Given the description of an element on the screen output the (x, y) to click on. 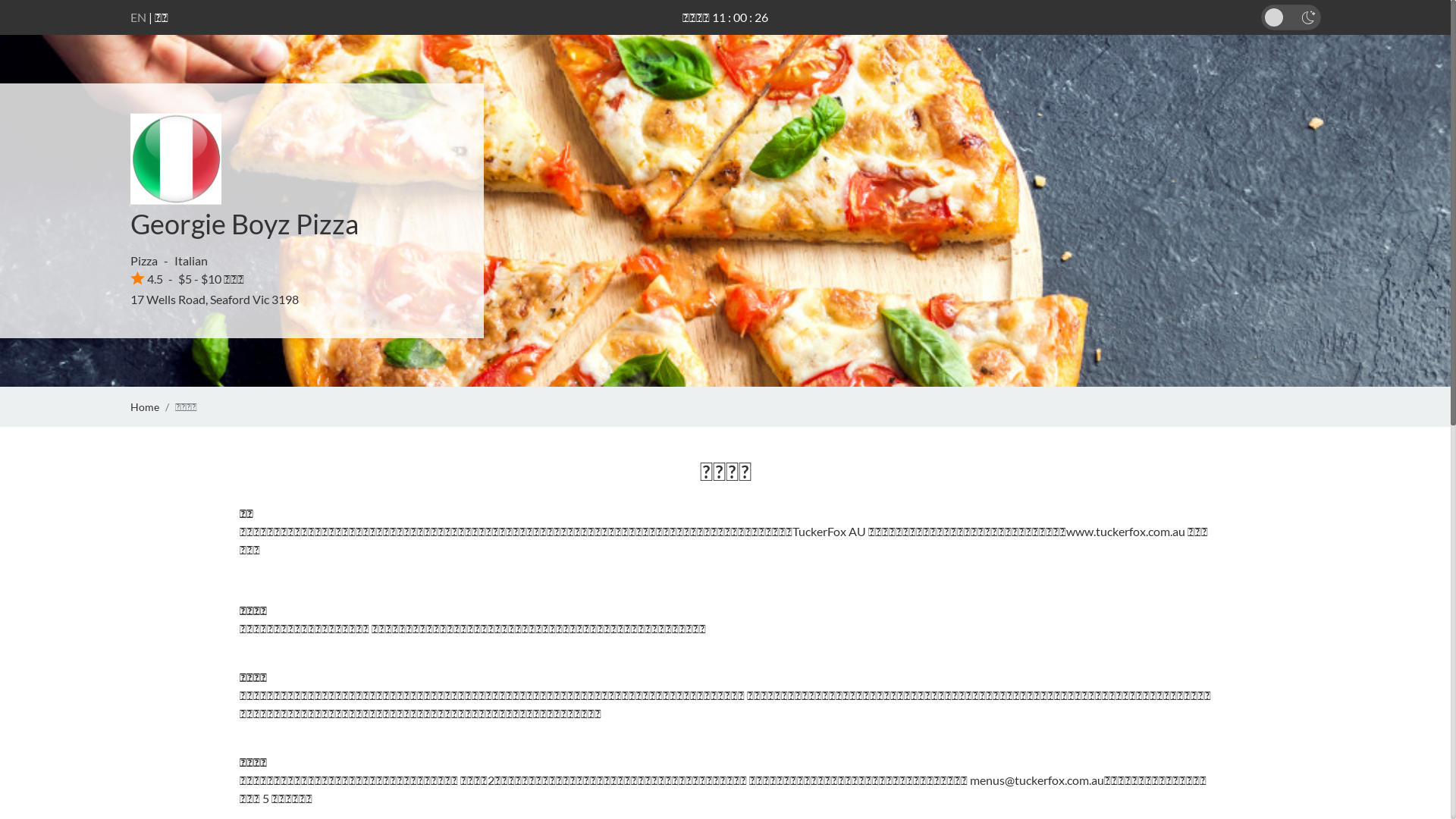
Home Element type: text (144, 406)
4.5 Element type: text (146, 278)
Georgie Boyz Pizza Element type: text (244, 223)
EN Element type: text (138, 16)
